Given the description of an element on the screen output the (x, y) to click on. 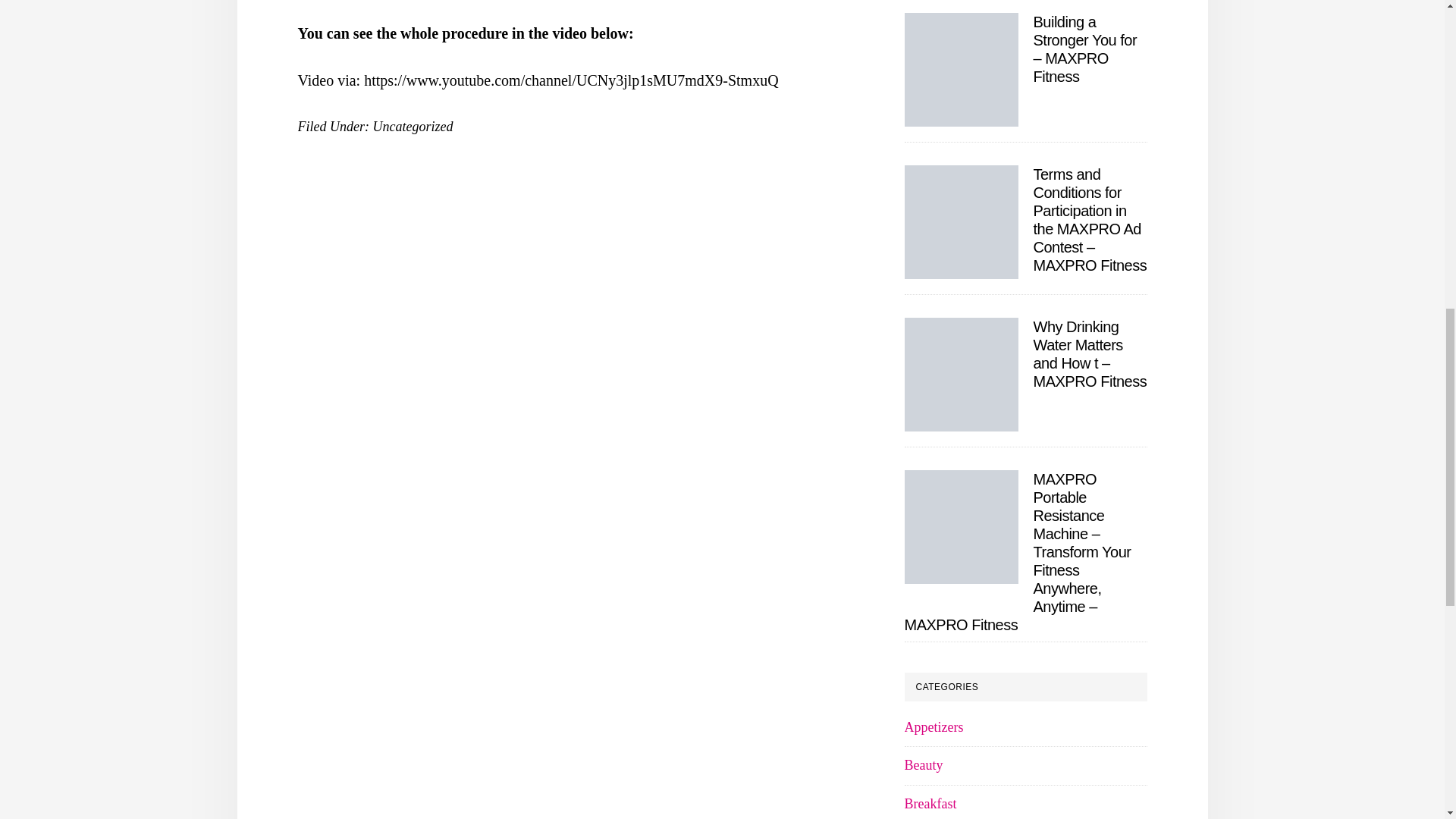
Beauty (923, 765)
Uncategorized (412, 126)
Breakfast (930, 803)
Appetizers (933, 726)
